Given the description of an element on the screen output the (x, y) to click on. 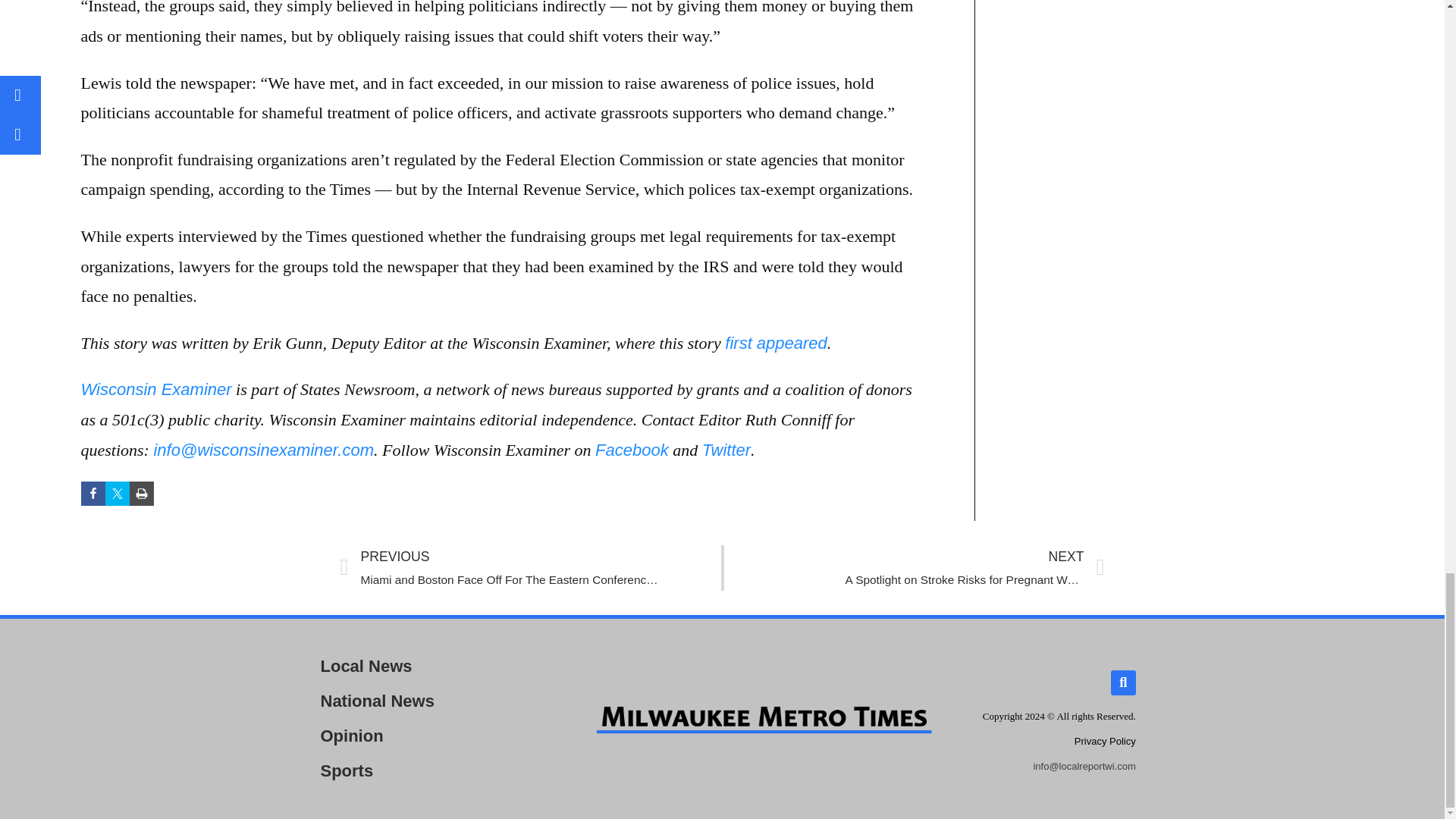
National News (438, 701)
Share on Facebook (92, 493)
Wisconsin Examiner (155, 389)
Print this Page (913, 567)
Twitter (140, 493)
Facebook (726, 449)
Share on Twitter (631, 449)
Privacy Policy (116, 493)
Local News (1104, 740)
first appeared (438, 666)
Sports (776, 342)
Opinion (438, 770)
